Given the description of an element on the screen output the (x, y) to click on. 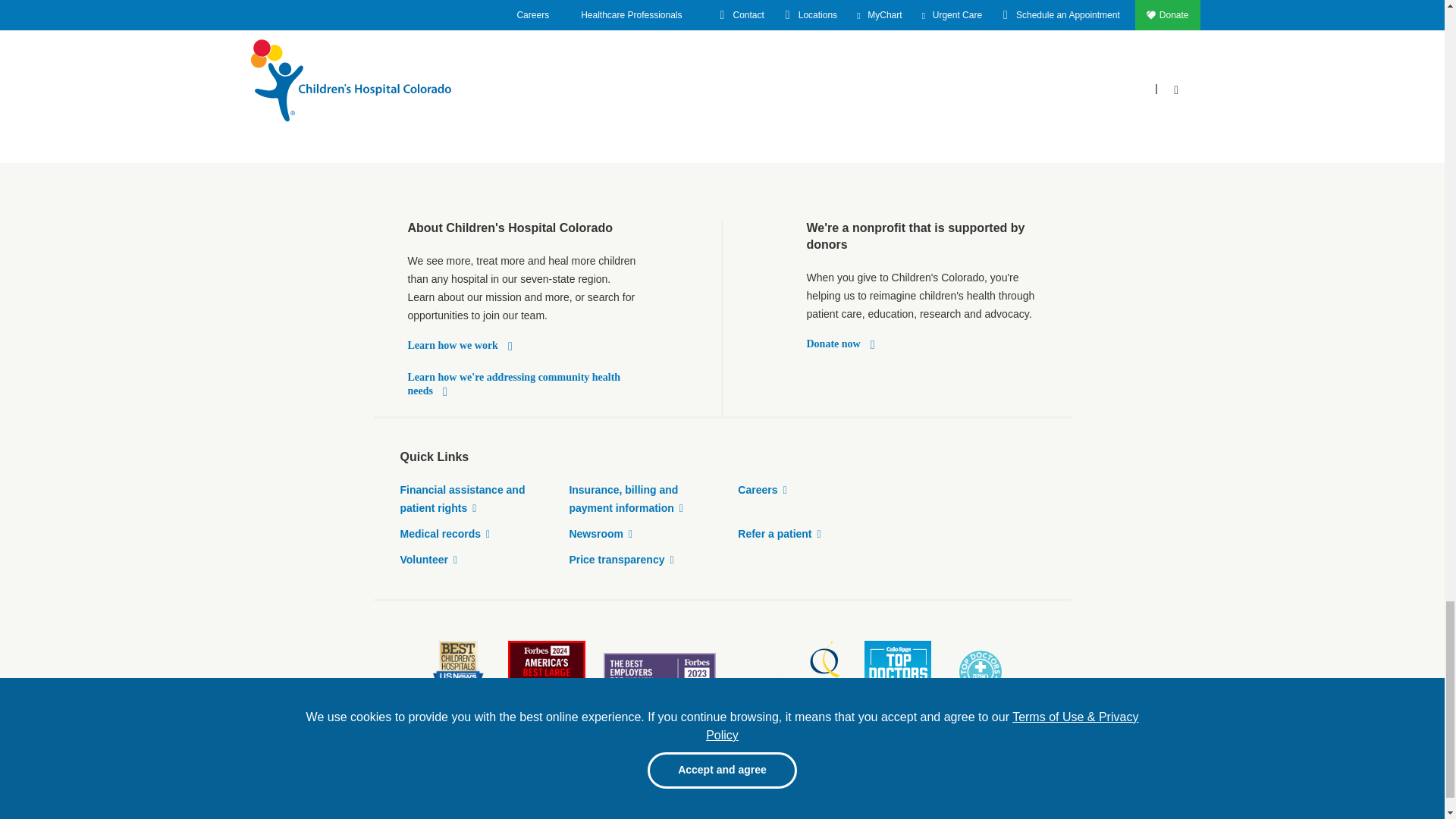
footer-2009-american-hosp-Q-for-Q.png (789, 671)
Facebook (929, 784)
Pinterest (961, 784)
Instagram (1056, 784)
Youtube (993, 784)
Forbes-Best-Employers-Women.png (660, 671)
LinkedIn (1025, 784)
COS-TOP-DOCTORS.png (897, 671)
